Given the description of an element on the screen output the (x, y) to click on. 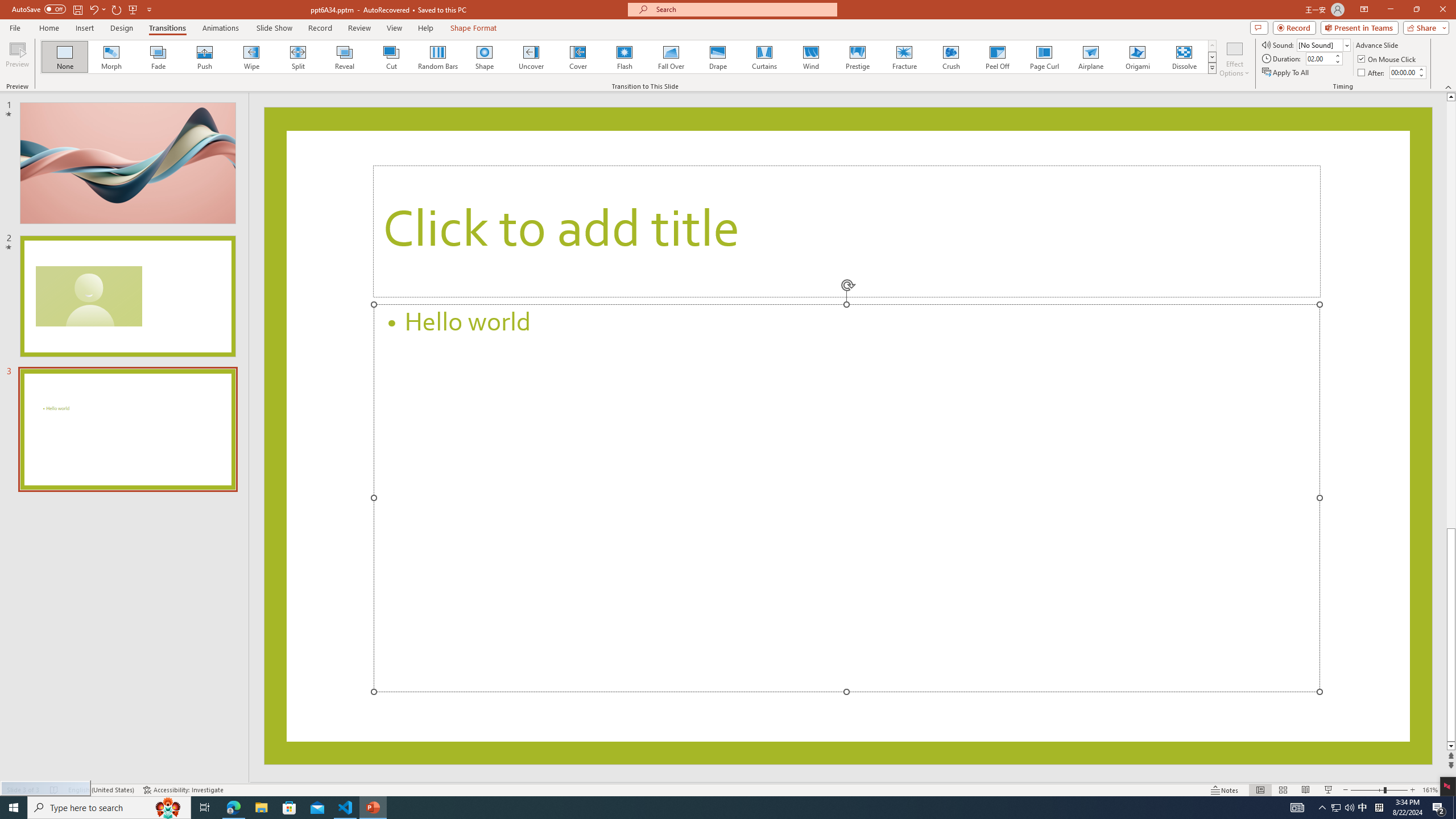
Wind (810, 56)
Airplane (1090, 56)
Apply To All (1286, 72)
None (65, 56)
Origami (1136, 56)
Split (298, 56)
